Given the description of an element on the screen output the (x, y) to click on. 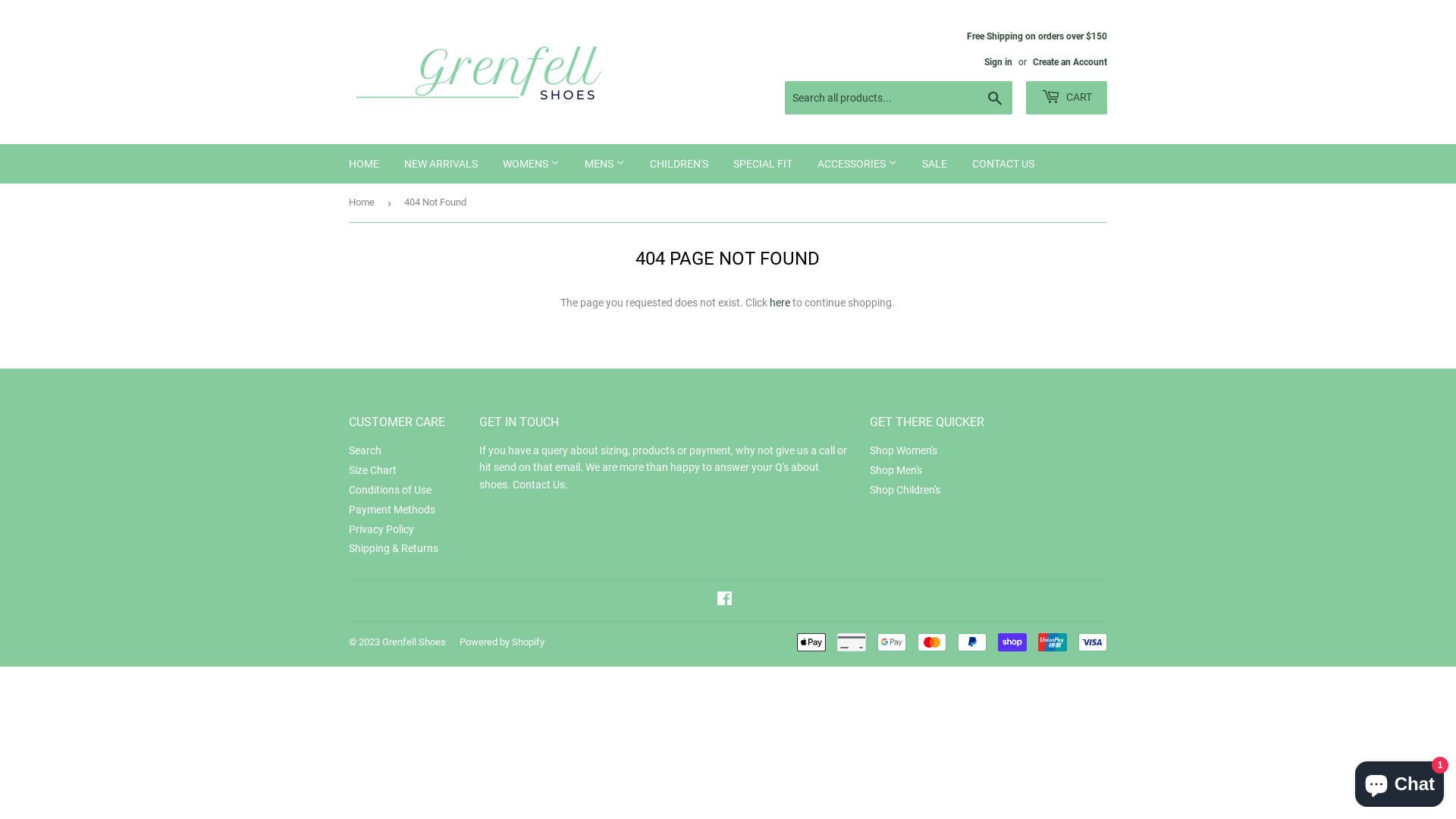
Conditions of Use Element type: text (389, 489)
SALE Element type: text (934, 163)
Sign in Element type: text (998, 61)
Payment Methods Element type: text (391, 509)
CHILDREN'S Element type: text (678, 163)
Shop Women's Element type: text (903, 450)
Create an Account Element type: text (1069, 61)
MENS Element type: text (604, 163)
Facebook Element type: text (723, 600)
Search Element type: text (995, 98)
Shop Men's Element type: text (895, 470)
Shopify online store chat Element type: hover (1399, 780)
NEW ARRIVALS Element type: text (440, 163)
CART Element type: text (1066, 97)
Home Element type: text (363, 202)
HOME Element type: text (363, 163)
WOMENS Element type: text (531, 163)
ACCESSORIES Element type: text (857, 163)
Contact Us. Element type: text (539, 484)
Privacy Policy Element type: text (381, 529)
Search Element type: text (364, 450)
Grenfell Shoes Element type: text (413, 641)
Shop Children's Element type: text (904, 489)
Powered by Shopify Element type: text (501, 641)
Free Shipping on orders over $150 Element type: text (1036, 48)
Size Chart Element type: text (372, 470)
SPECIAL FIT Element type: text (762, 163)
here Element type: text (779, 302)
Shipping & Returns Element type: text (393, 548)
CONTACT US Element type: text (1002, 163)
